Given the description of an element on the screen output the (x, y) to click on. 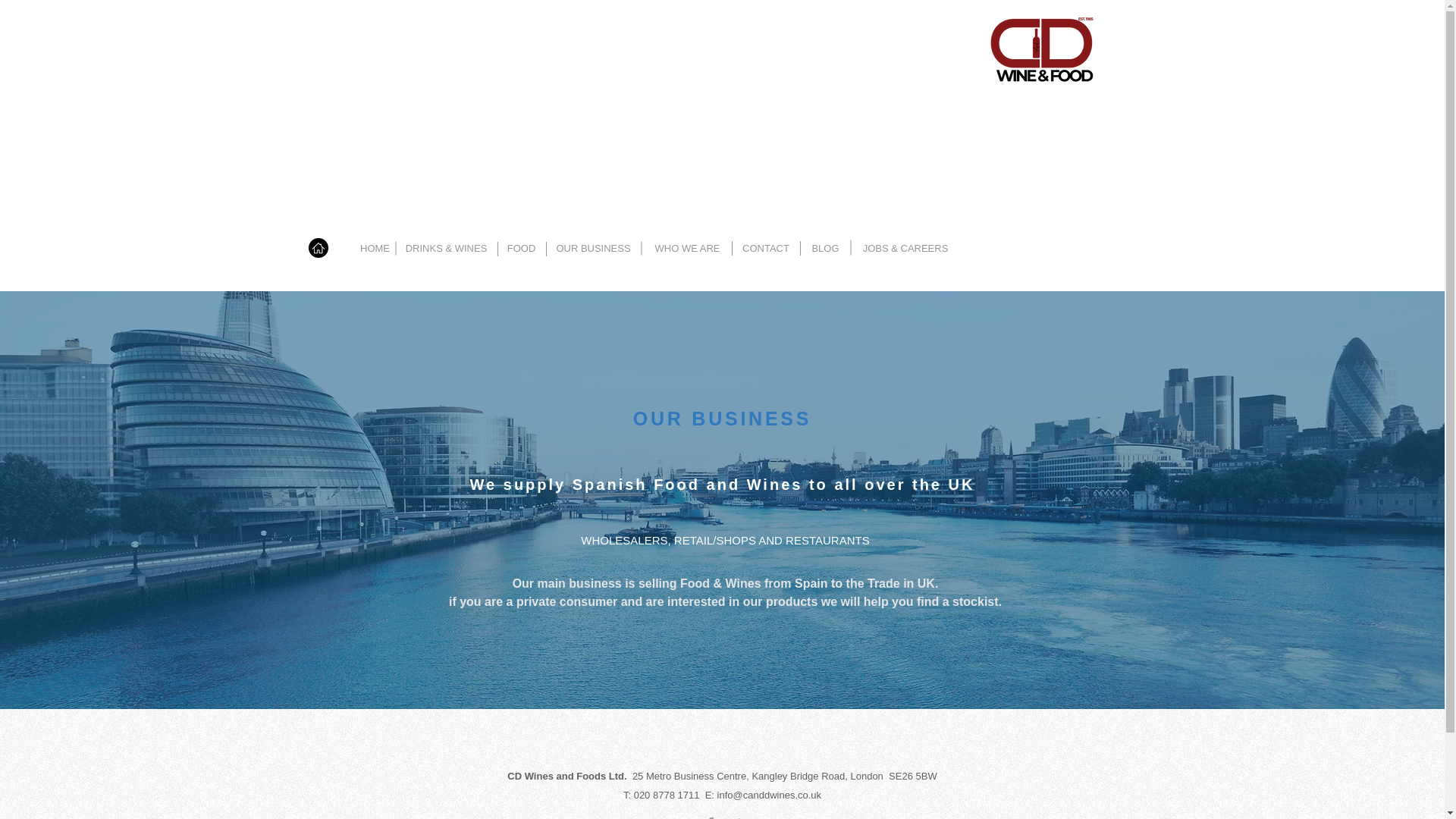
WHO WE ARE (687, 248)
HOME (374, 248)
OUR BUSINESS (593, 248)
BLOG (825, 248)
View VI (1035, 816)
FOOD (521, 248)
CONTACT (765, 248)
